Given the description of an element on the screen output the (x, y) to click on. 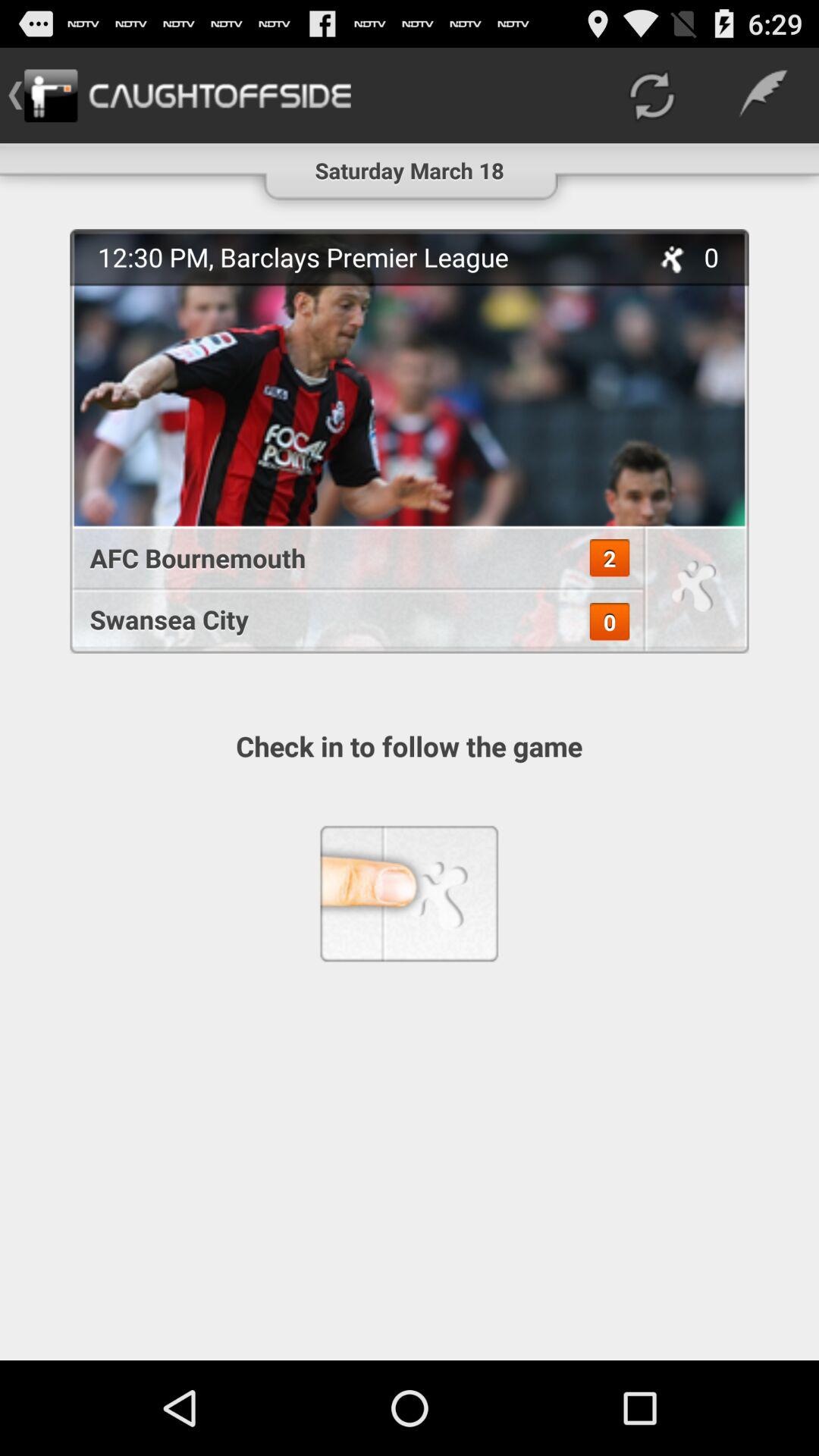
scroll until the 12 30 pm icon (364, 256)
